Given the description of an element on the screen output the (x, y) to click on. 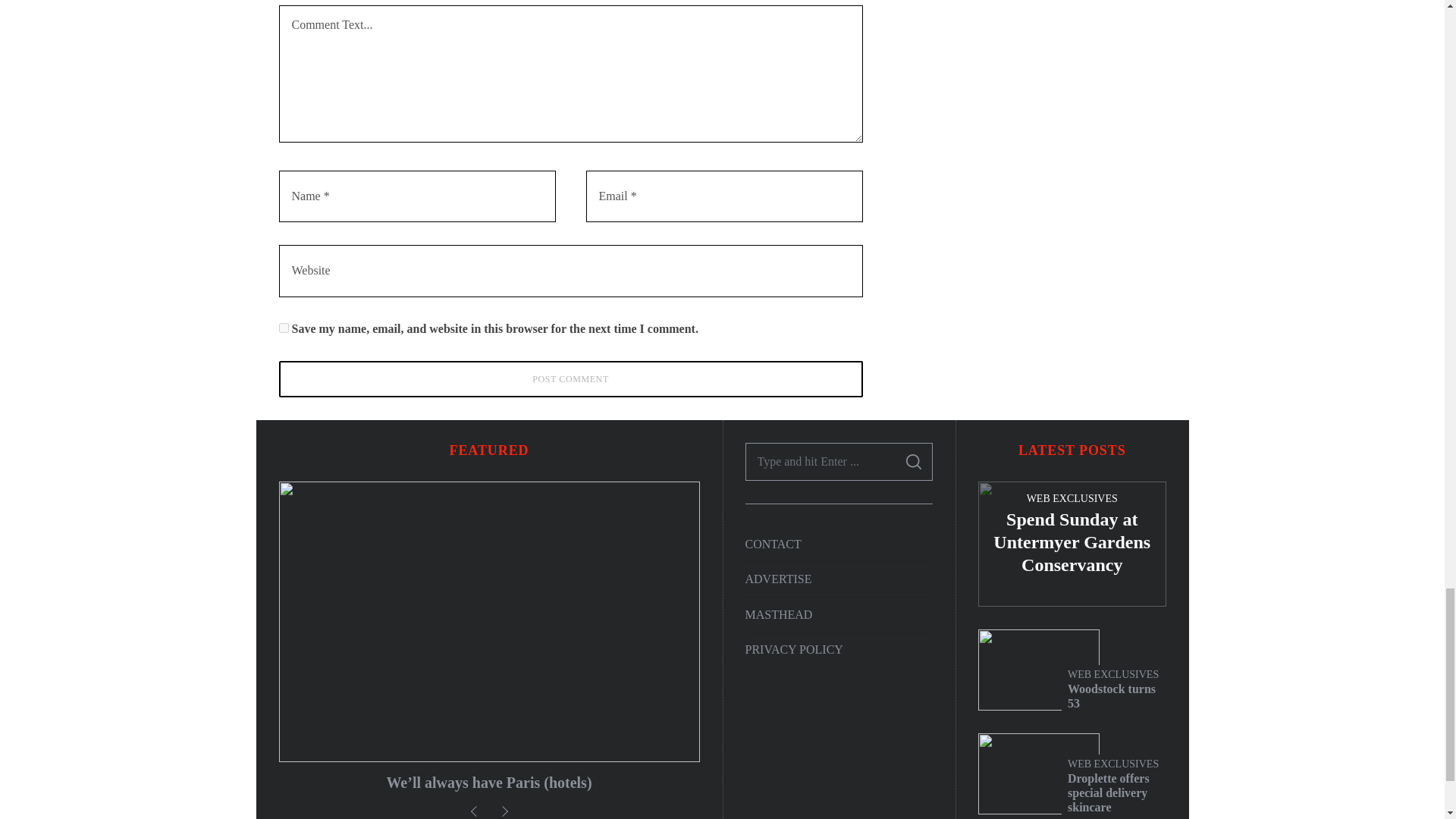
yes (283, 327)
Post Comment (571, 379)
